Given the description of an element on the screen output the (x, y) to click on. 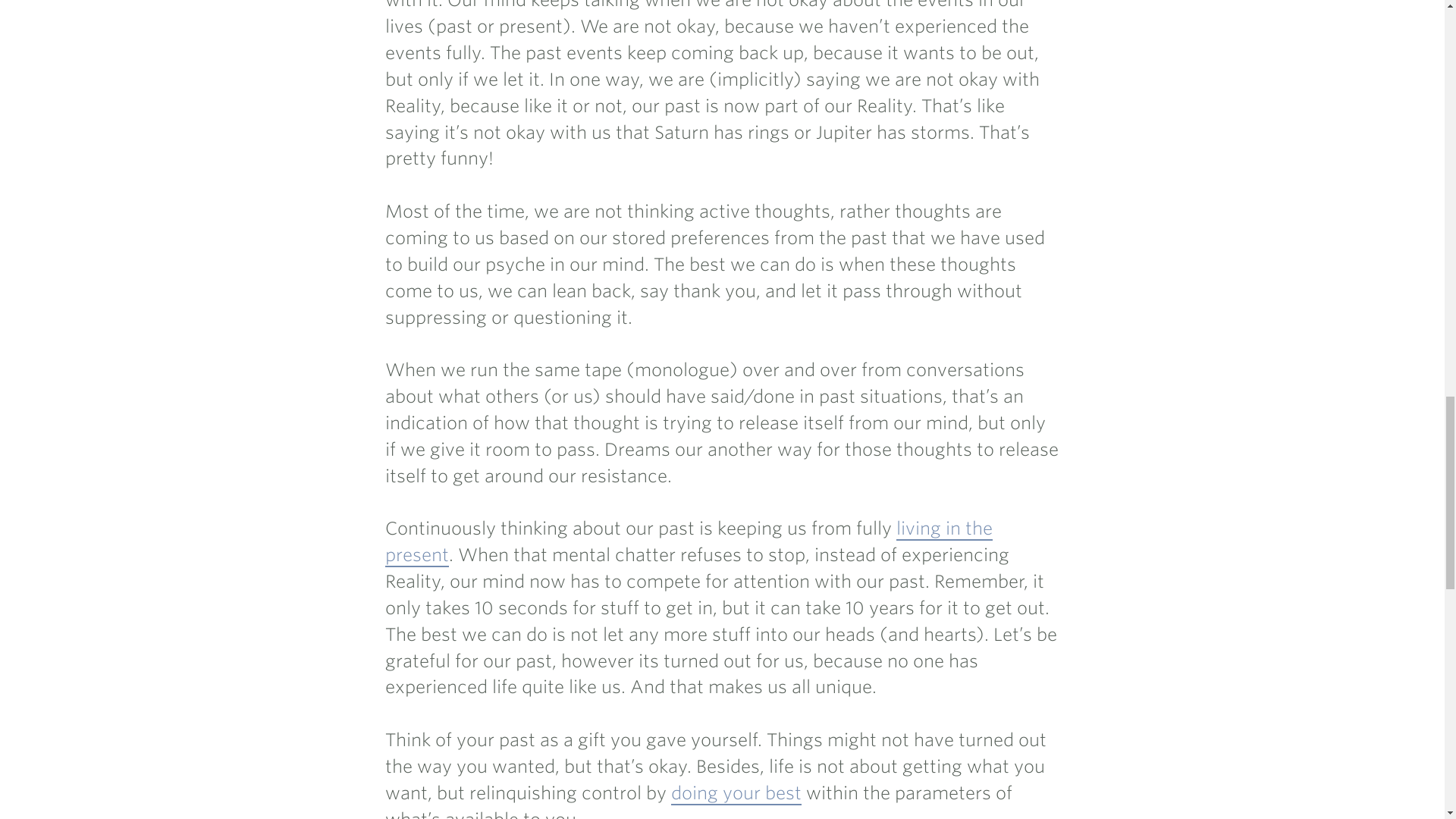
living in the present (688, 542)
doing your best (736, 793)
